Given the description of an element on the screen output the (x, y) to click on. 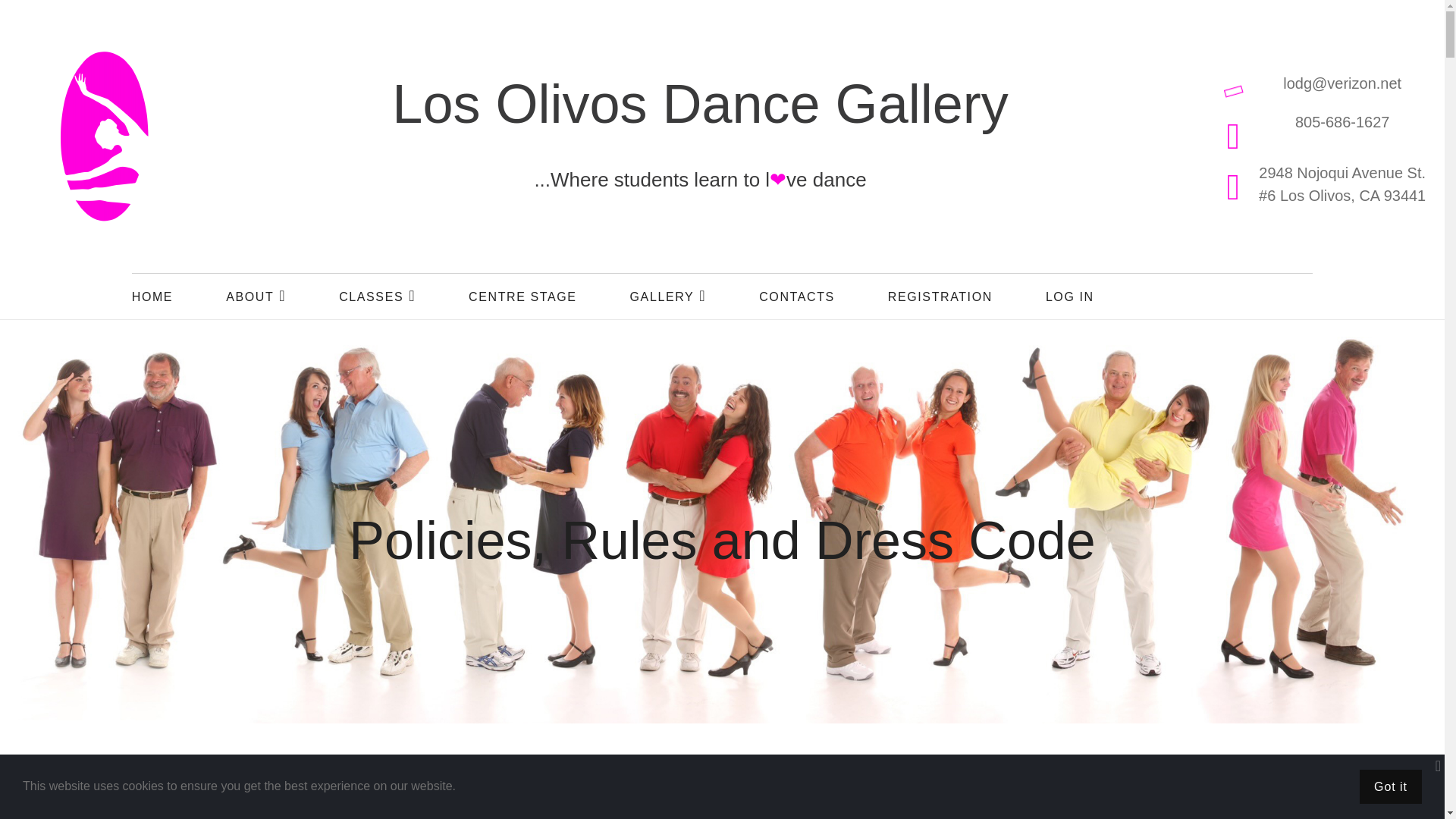
CENTRE STAGE (522, 296)
ABOUT (255, 296)
Got it (1390, 786)
CLASSES (376, 296)
CONTACTS (796, 296)
HOME (152, 296)
GALLERY (668, 296)
LOG IN (1069, 296)
REGISTRATION (940, 296)
805-686-1627 (1342, 121)
